Given the description of an element on the screen output the (x, y) to click on. 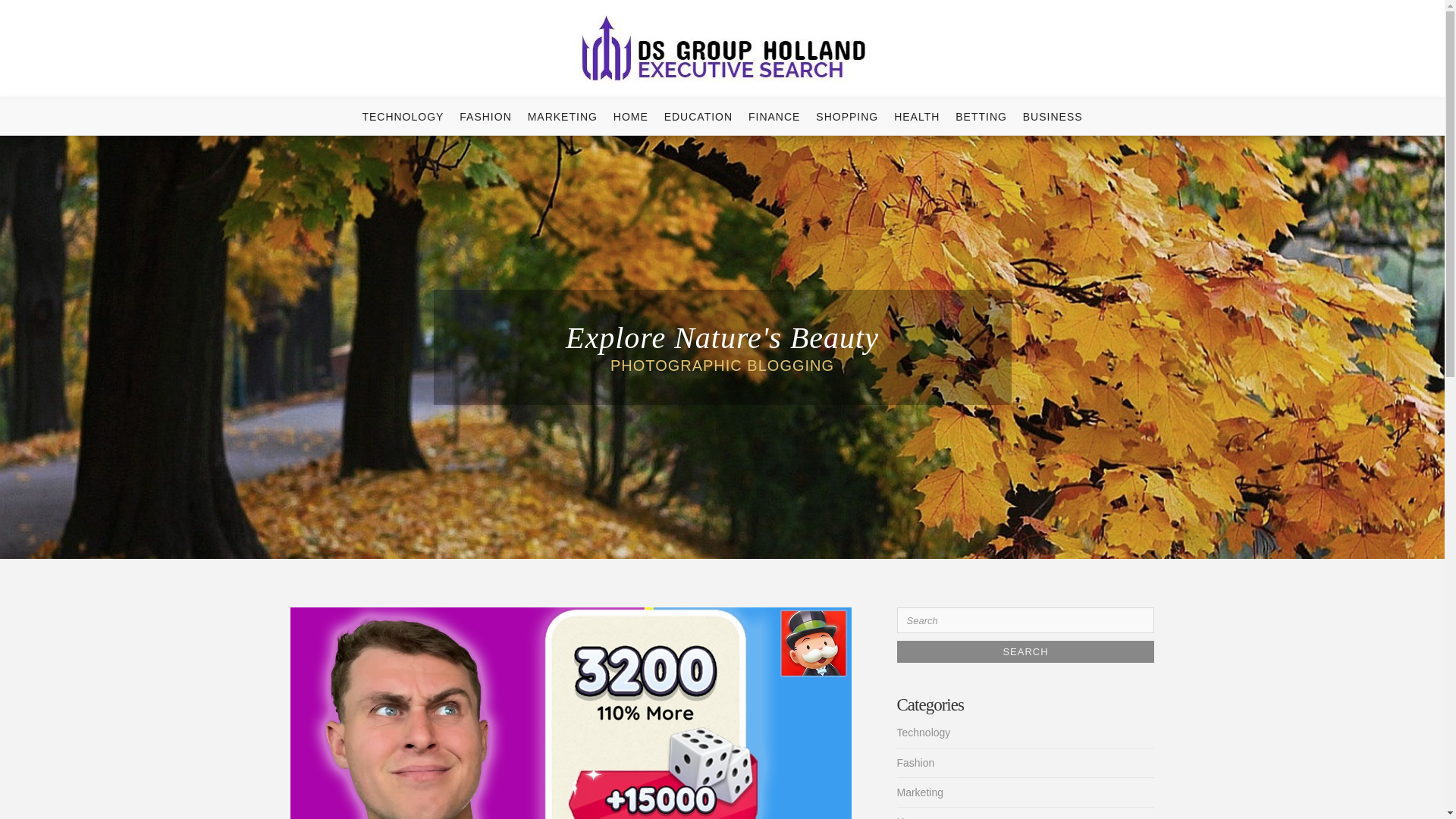
TECHNOLOGY (402, 116)
HEALTH (916, 116)
EDUCATION (698, 116)
HOME (630, 116)
FASHION (484, 116)
BETTING (981, 116)
Marketing (919, 792)
MARKETING (562, 116)
BUSINESS (1052, 116)
FINANCE (774, 116)
